Given the description of an element on the screen output the (x, y) to click on. 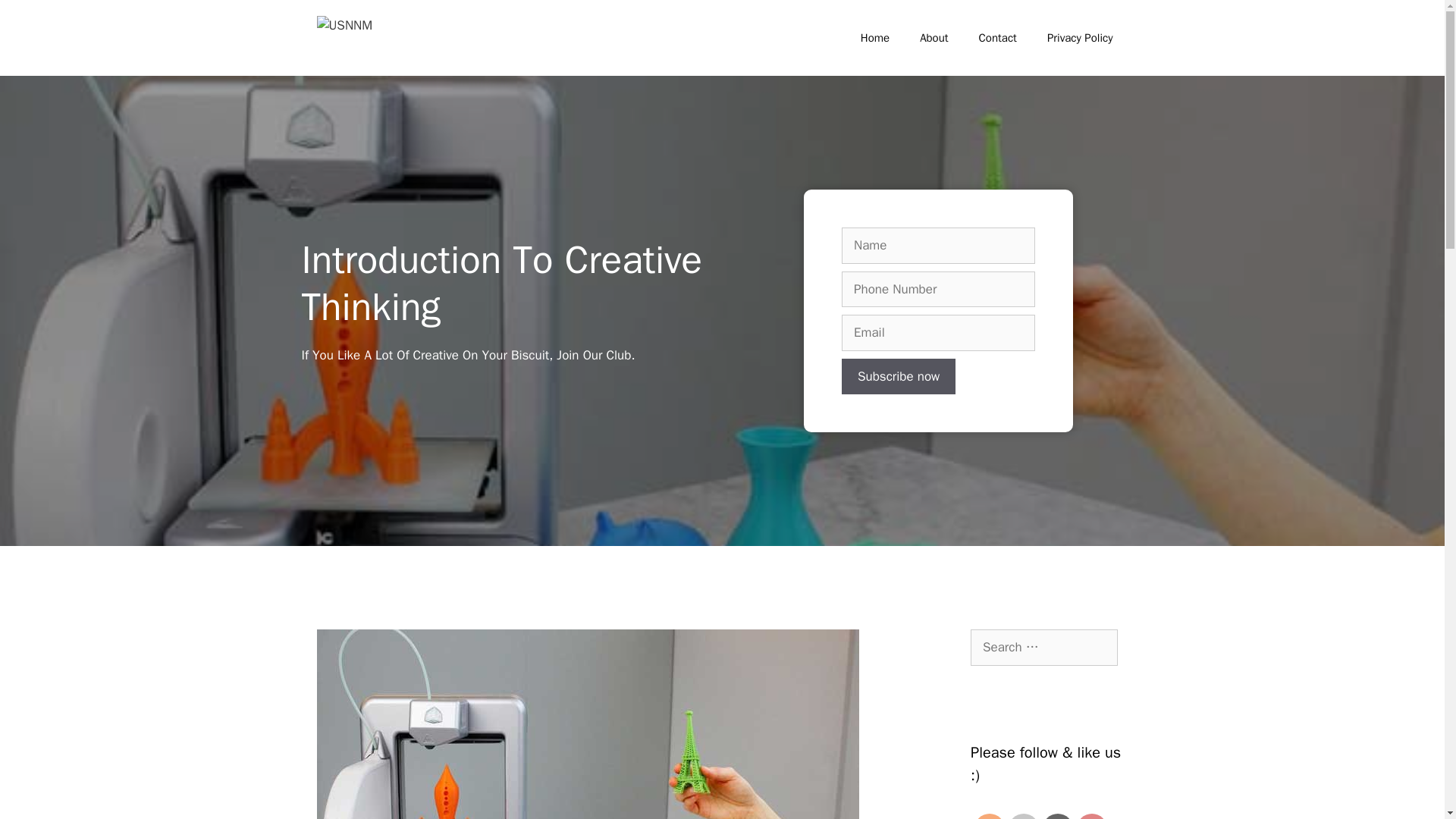
Privacy Policy (1080, 37)
Subscribe now (898, 375)
About (933, 37)
Contact (997, 37)
Search for: (1044, 647)
Home (874, 37)
Search (35, 18)
